Given the description of an element on the screen output the (x, y) to click on. 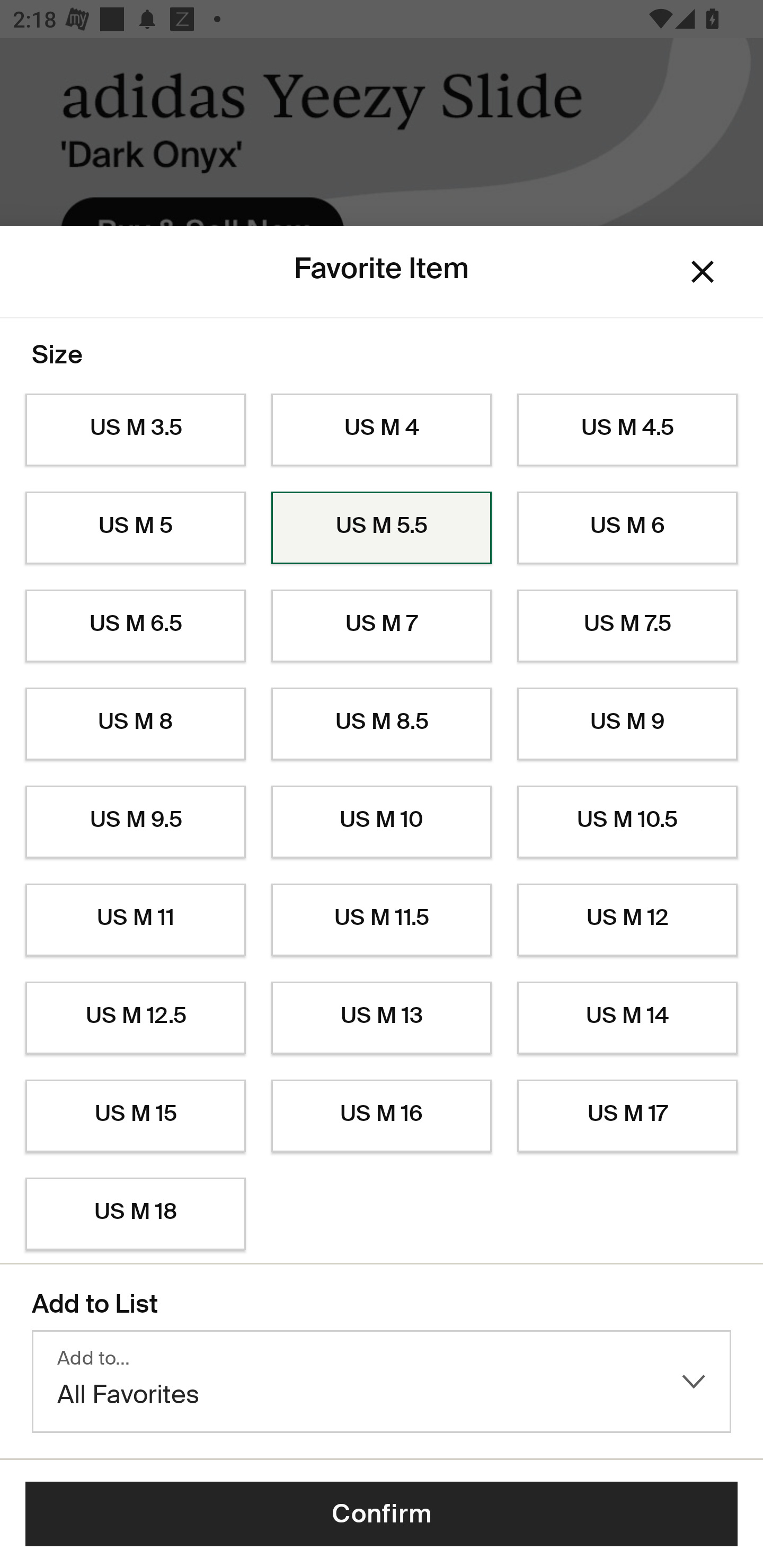
Dismiss (702, 271)
US M 3.5 (135, 430)
US M 4 (381, 430)
US M 4.5 (627, 430)
US M 5 (135, 527)
US M 5.5 (381, 527)
US M 6 (627, 527)
US M 6.5 (135, 626)
US M 7 (381, 626)
US M 7.5 (627, 626)
US M 8 (135, 724)
US M 8.5 (381, 724)
US M 9 (627, 724)
US M 9.5 (135, 822)
US M 10 (381, 822)
US M 10.5 (627, 822)
US M 11 (135, 919)
US M 11.5 (381, 919)
US M 12 (627, 919)
US M 12.5 (135, 1018)
US M 13 (381, 1018)
US M 14 (627, 1018)
US M 15 (135, 1116)
US M 16 (381, 1116)
US M 17 (627, 1116)
US M 18 (135, 1214)
Add to… All Favorites (381, 1381)
Confirm (381, 1513)
